Given the description of an element on the screen output the (x, y) to click on. 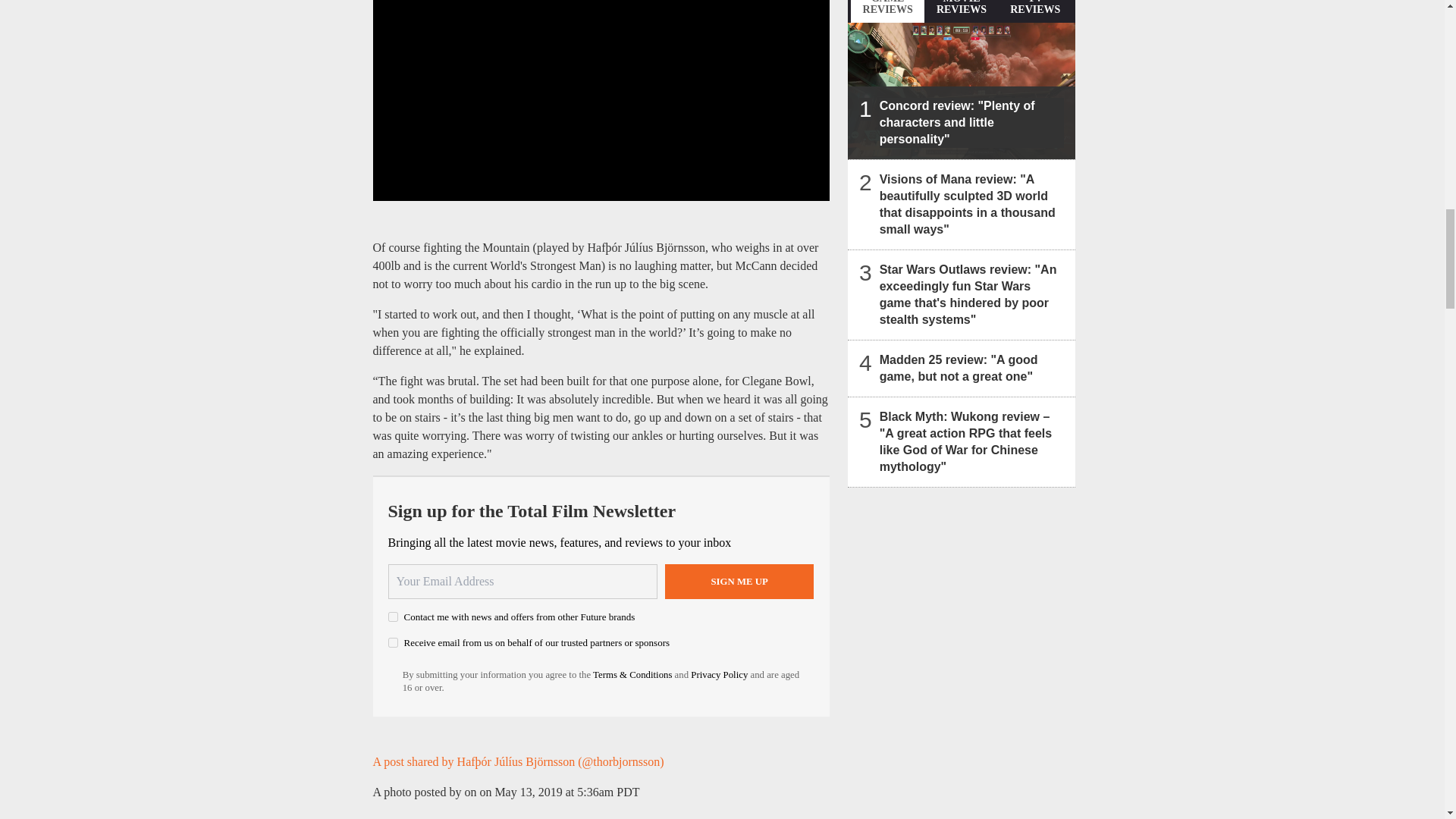
on (392, 616)
on (392, 642)
Sign me up (739, 581)
